Given the description of an element on the screen output the (x, y) to click on. 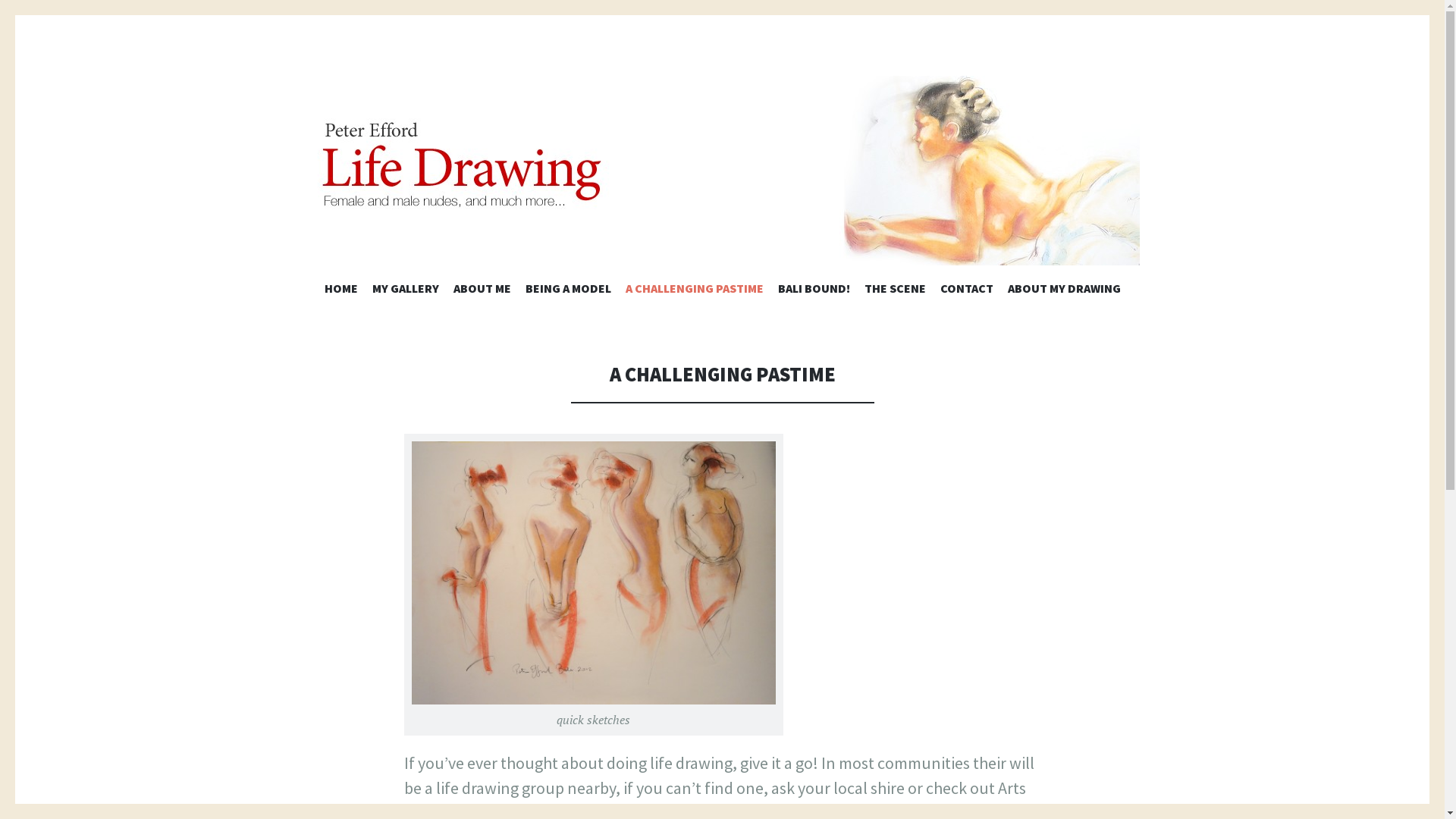
Life Drawing Element type: hover (721, 170)
ABOUT ME Element type: text (482, 290)
HOME Element type: text (340, 290)
CONTACT Element type: text (966, 290)
BALI BOUND! Element type: text (814, 290)
THE SCENE Element type: text (894, 290)
LIFE DRAWING Element type: text (462, 309)
A CHALLENGING PASTIME Element type: text (693, 290)
ABOUT MY DRAWING Element type: text (1063, 290)
SKIP TO CONTENT Element type: text (721, 279)
MY GALLERY Element type: text (404, 290)
BEING A MODEL Element type: text (567, 290)
